Given the description of an element on the screen output the (x, y) to click on. 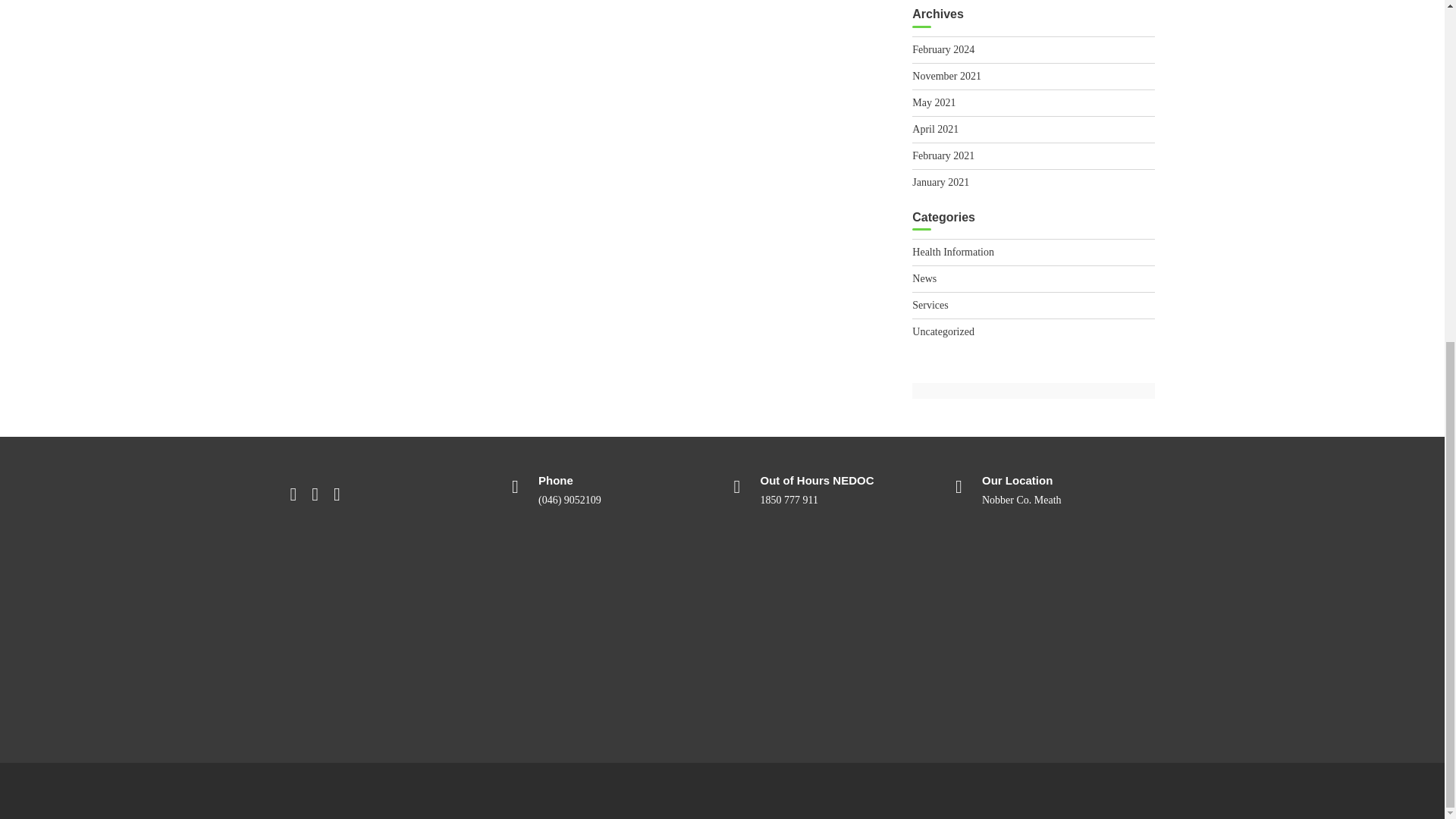
Health Information (953, 251)
November 2021 (946, 75)
Services (929, 305)
April 2021 (935, 129)
February 2021 (943, 155)
May 2021 (933, 102)
January 2021 (940, 182)
News (924, 278)
February 2024 (943, 49)
